Given the description of an element on the screen output the (x, y) to click on. 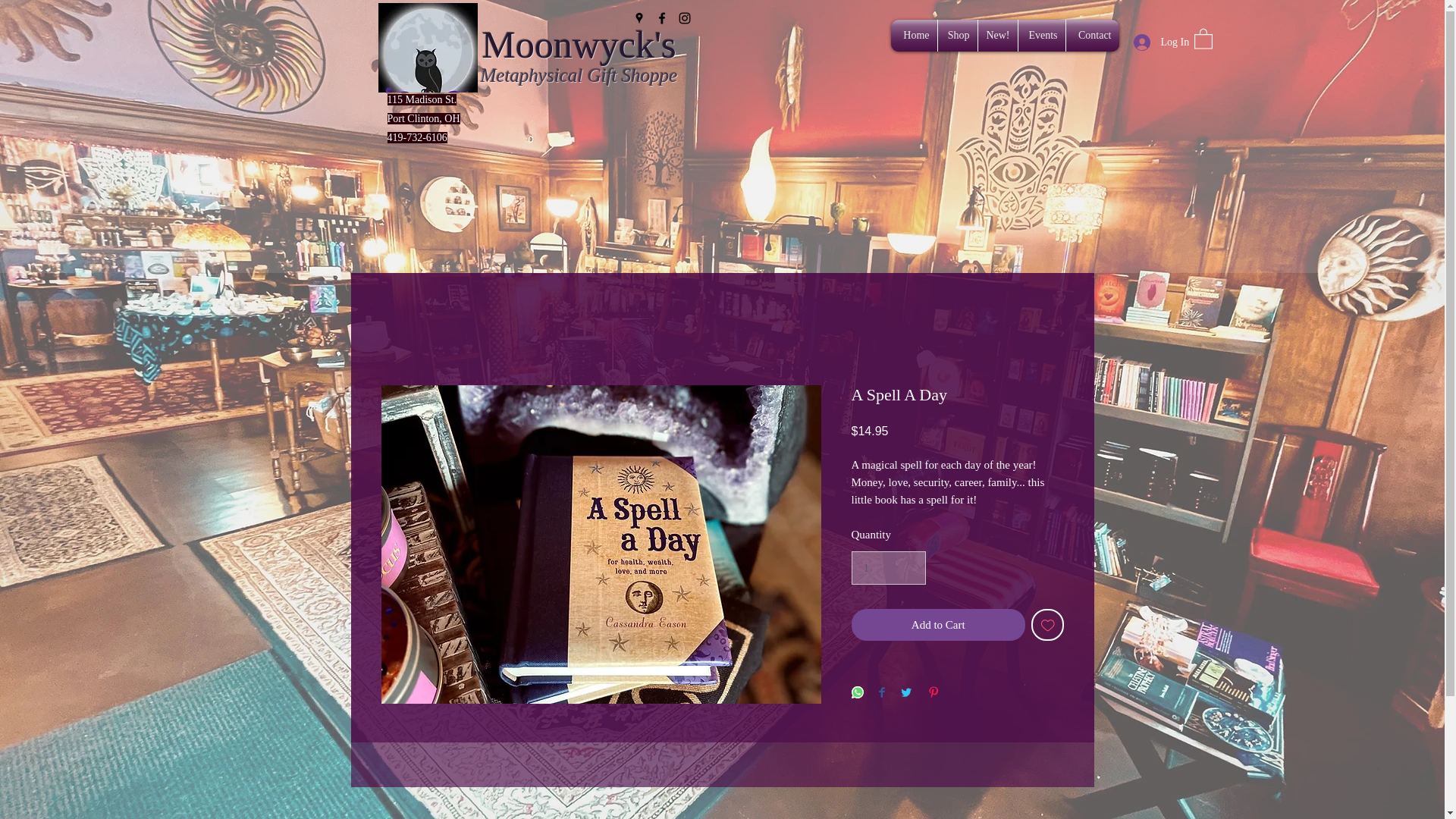
Home (915, 35)
Contact (1092, 35)
New! (997, 35)
Moonwyck's (579, 44)
Log In (1156, 41)
Shop (956, 35)
Add to Cart (937, 625)
Events (1040, 35)
1 (887, 567)
